Given the description of an element on the screen output the (x, y) to click on. 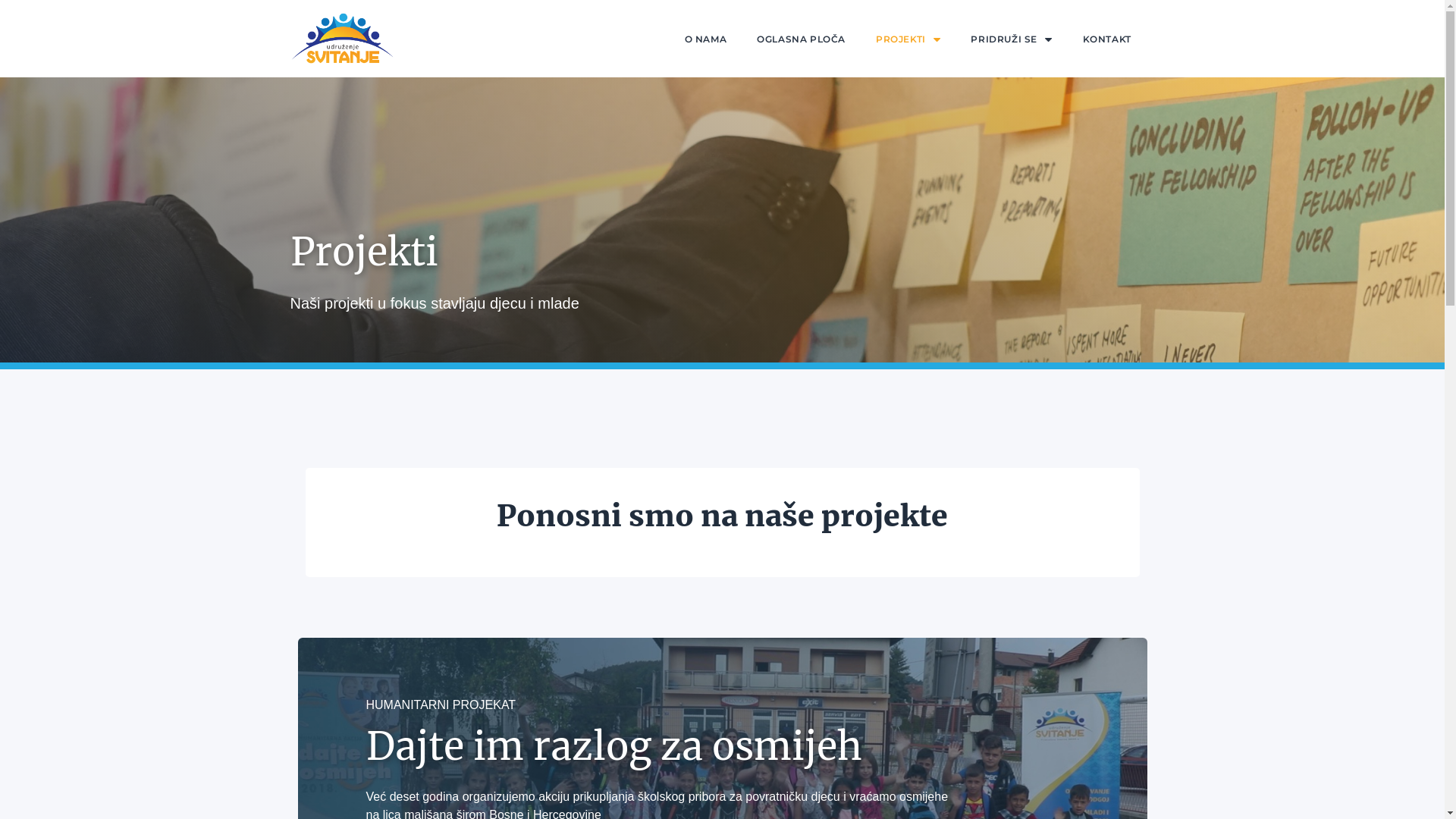
PROJEKTI Element type: text (907, 39)
KONTAKT Element type: text (1106, 39)
O NAMA Element type: text (705, 39)
